Given the description of an element on the screen output the (x, y) to click on. 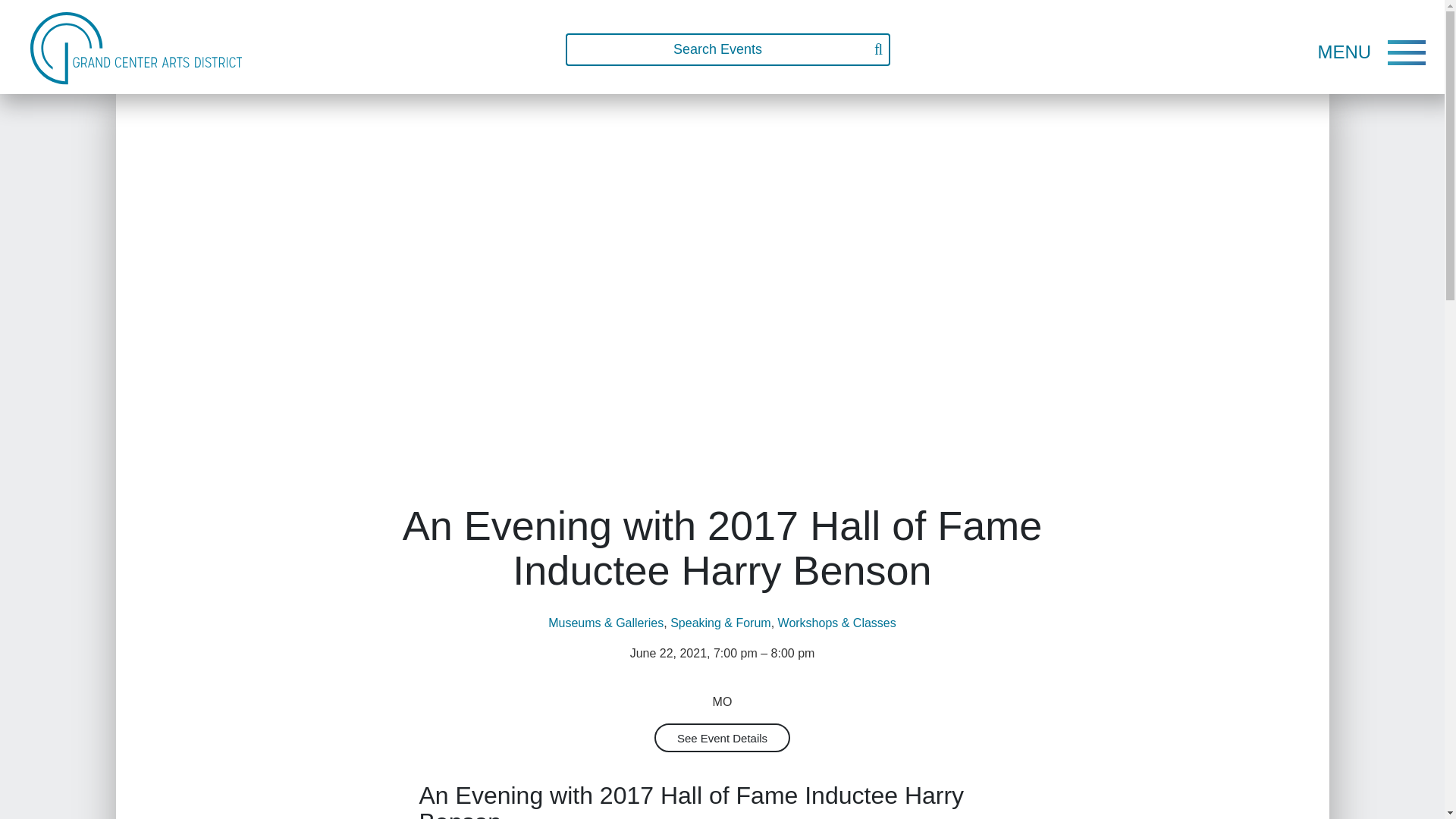
MENU (1344, 52)
See Event Details (721, 737)
